Given the description of an element on the screen output the (x, y) to click on. 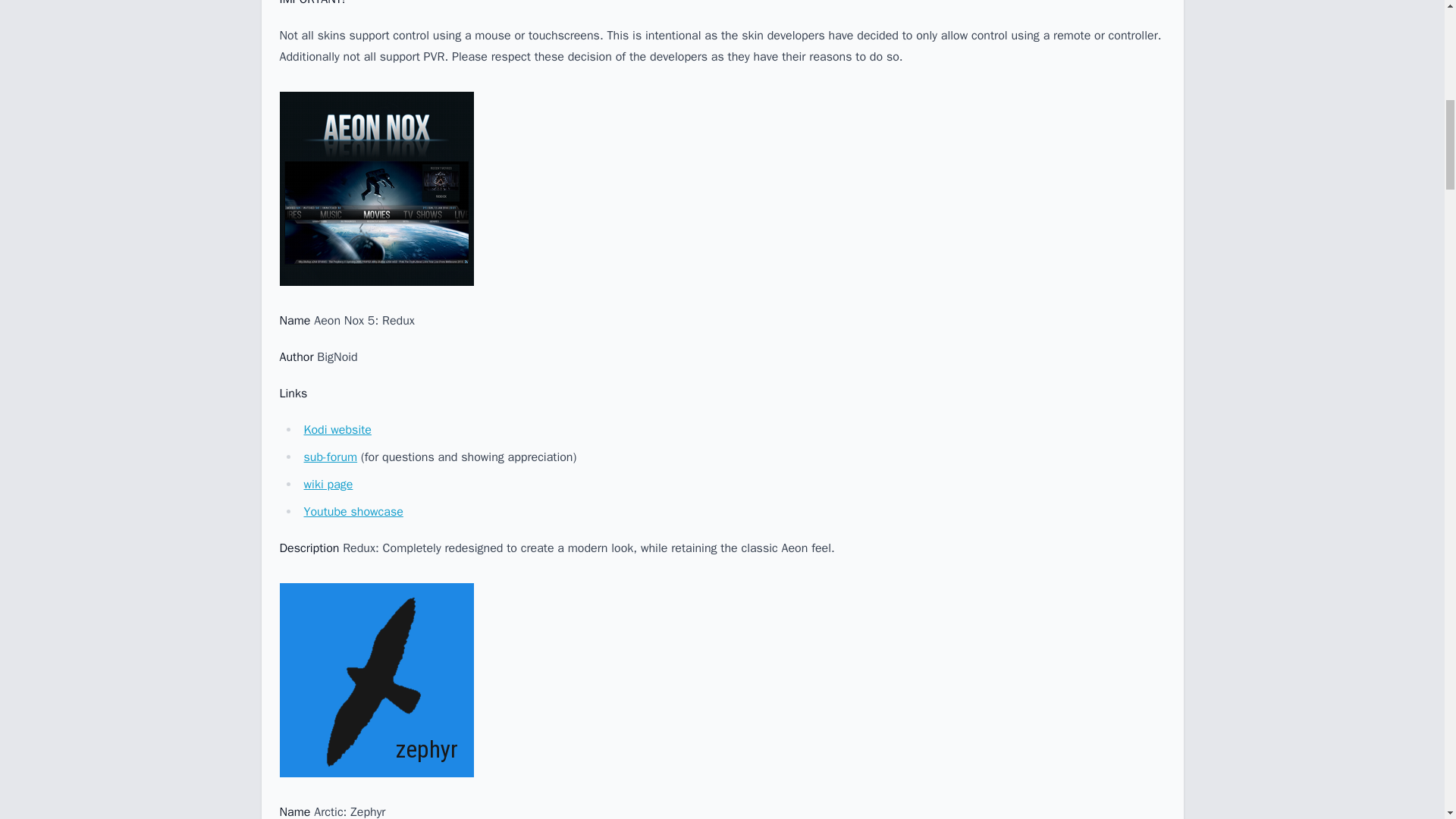
wiki page (327, 484)
sub-forum (329, 457)
Youtube showcase (352, 511)
Kodi website (336, 429)
